Given the description of an element on the screen output the (x, y) to click on. 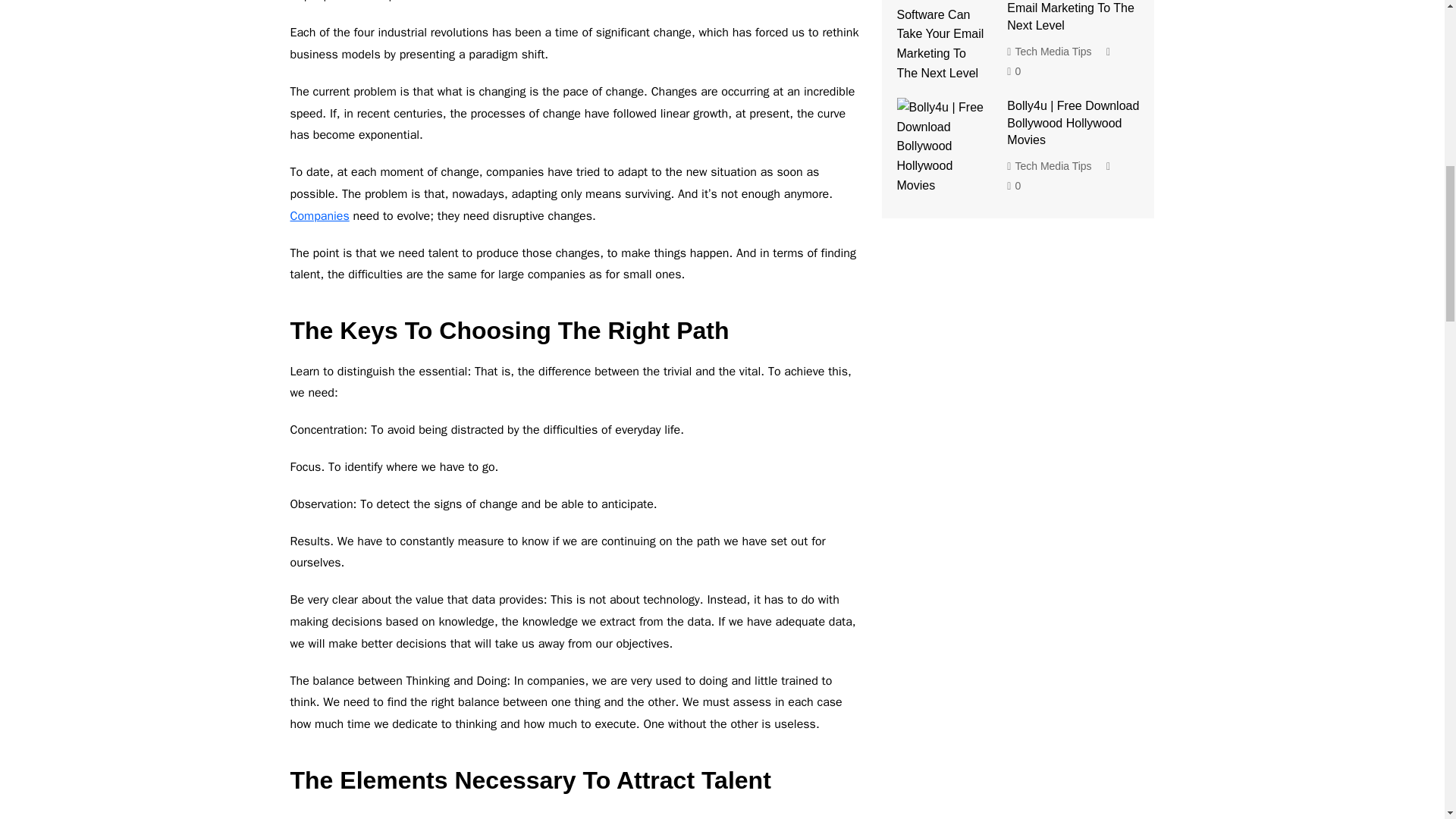
Companies (319, 215)
